Given the description of an element on the screen output the (x, y) to click on. 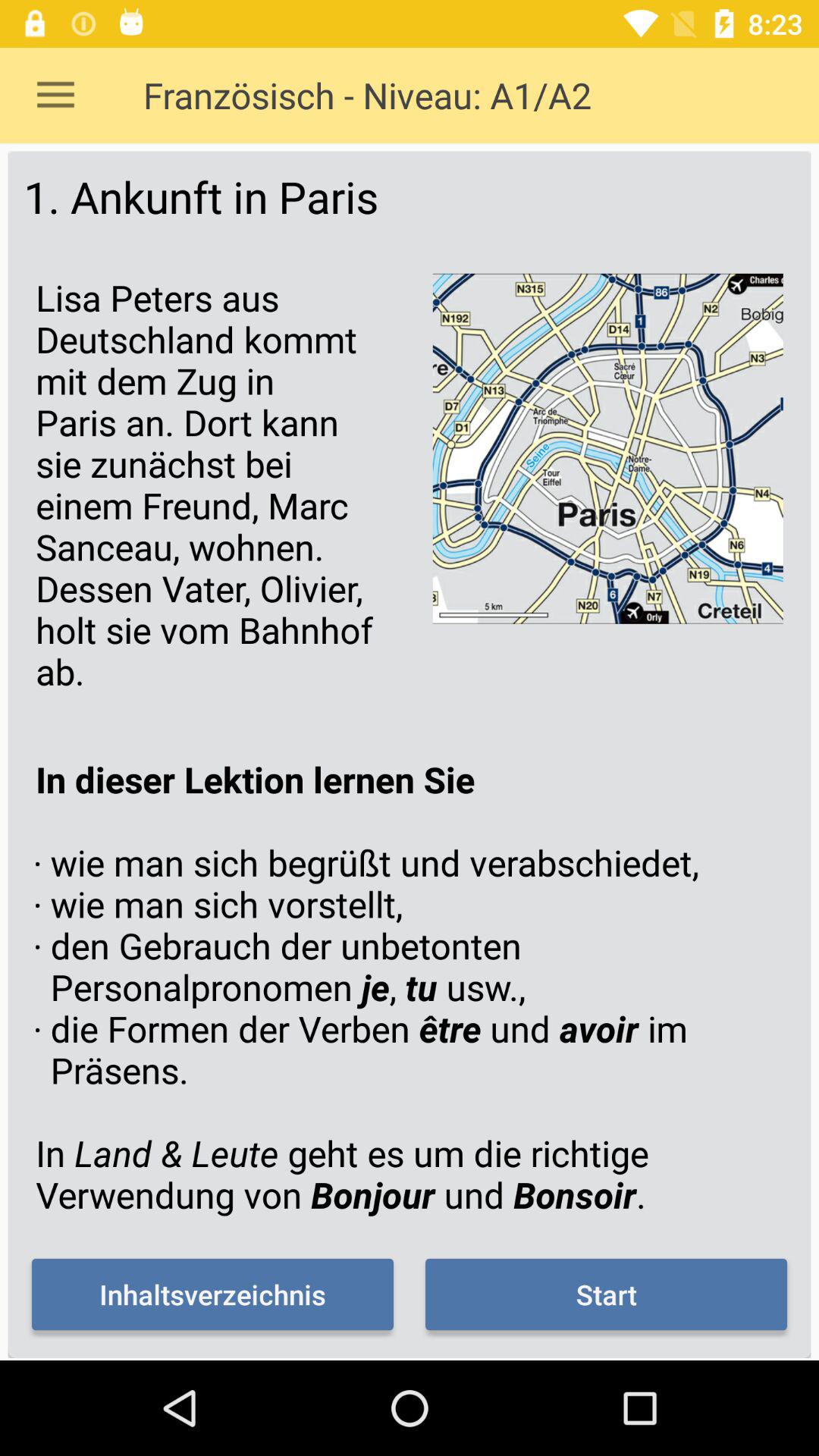
select the item next to the start item (212, 1294)
